Given the description of an element on the screen output the (x, y) to click on. 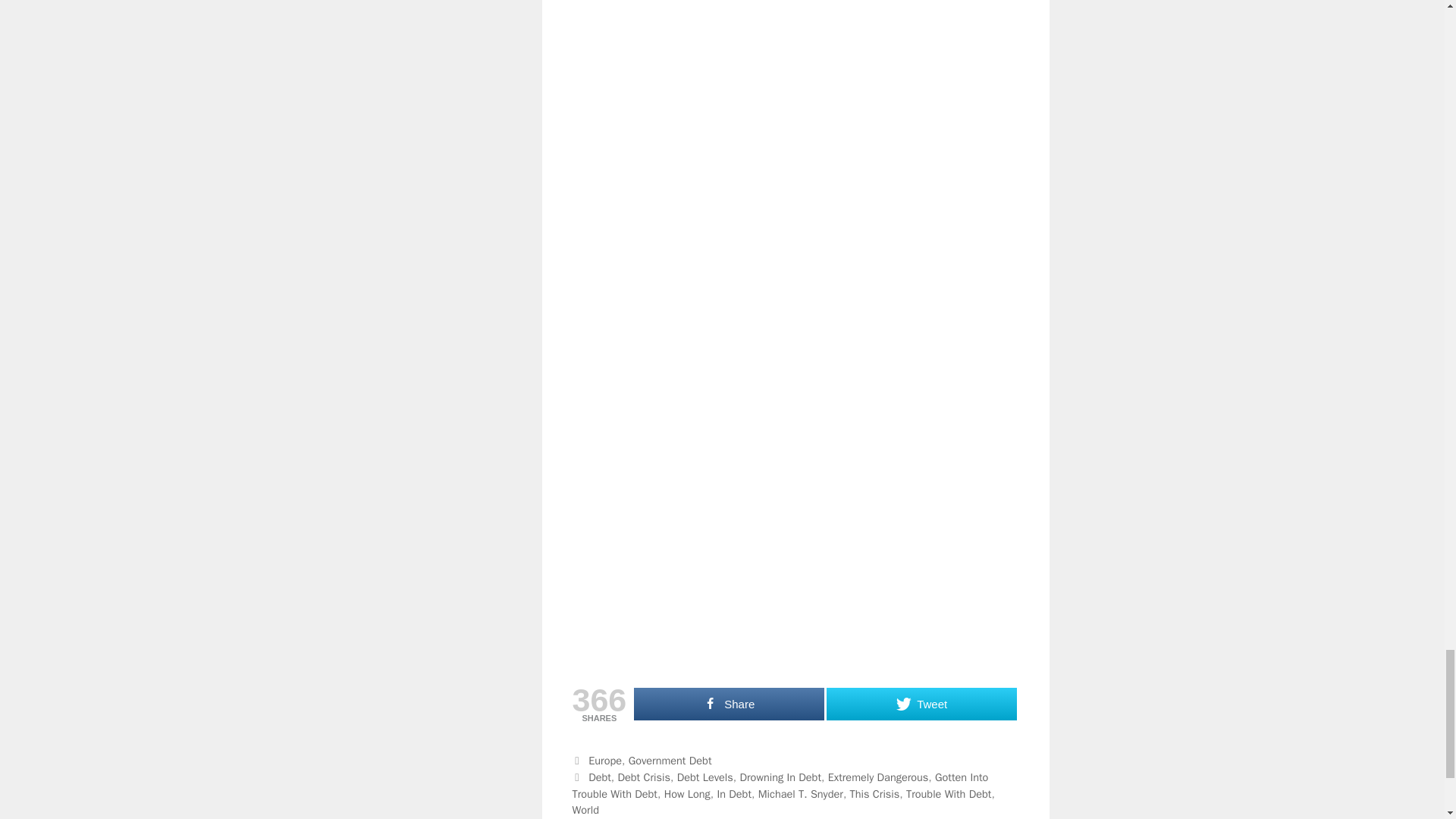
Gotten Into Trouble With Debt (780, 785)
Extremely Dangerous (878, 776)
Debt (599, 776)
Debt Crisis (643, 776)
How Long (686, 793)
Michael T. Snyder (800, 793)
Trouble With Debt (948, 793)
Debt Levels (705, 776)
World (585, 809)
Government Debt (669, 760)
